Given the description of an element on the screen output the (x, y) to click on. 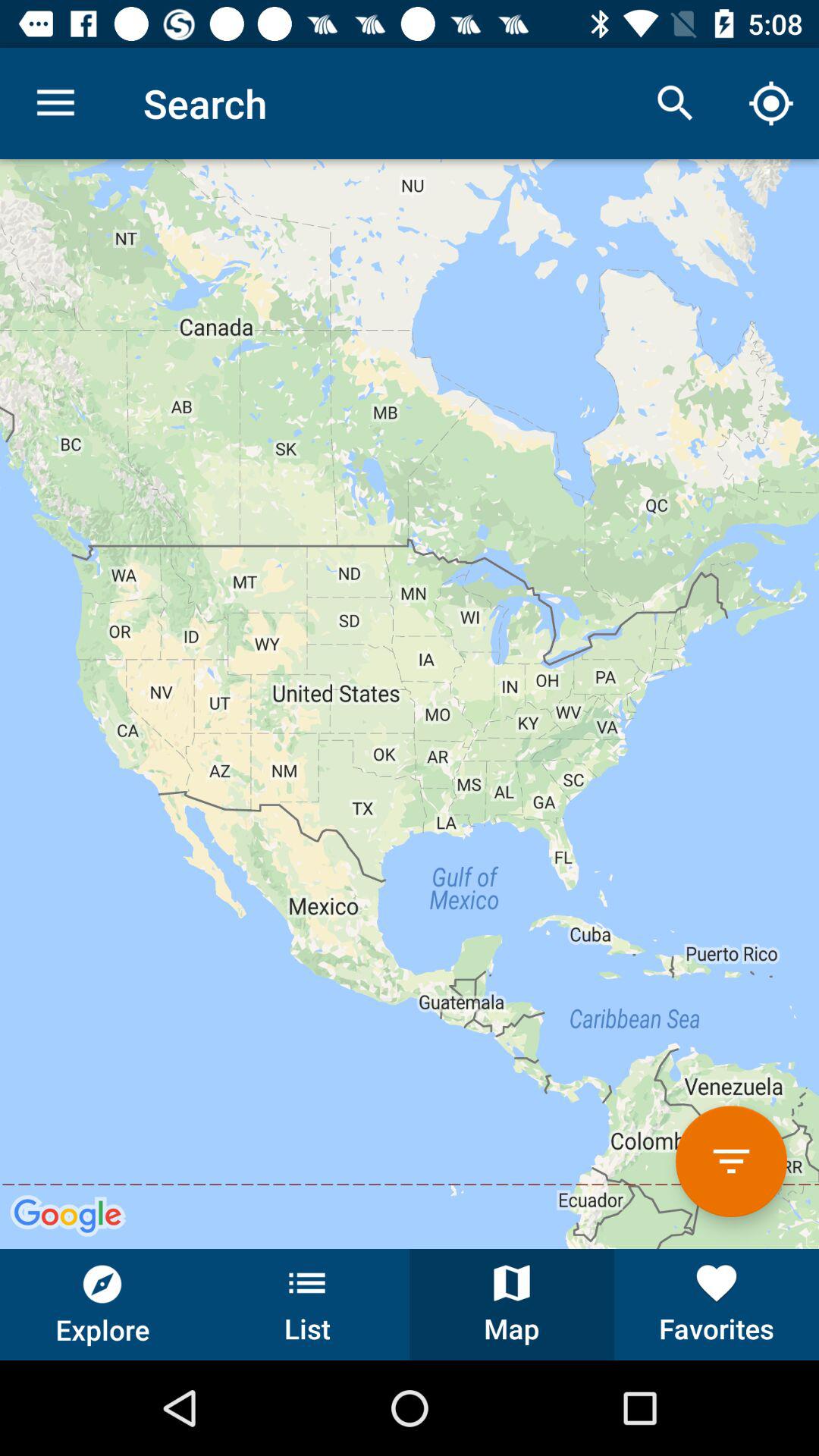
open list button (306, 1304)
